Given the description of an element on the screen output the (x, y) to click on. 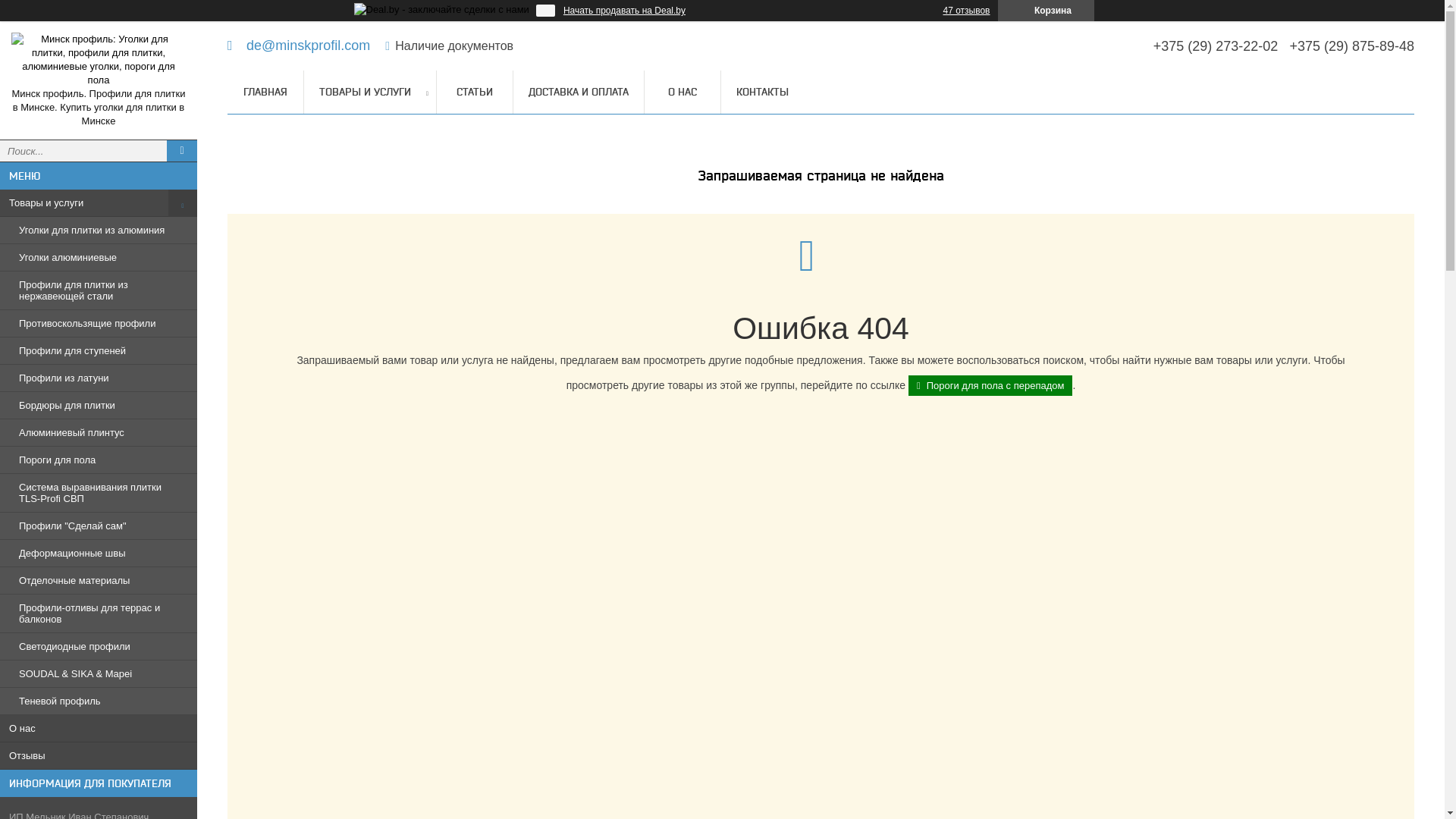
de@minskprofil.com Element type: text (298, 45)
SOUDAL & SIKA & Mapei Element type: text (98, 673)
